Given the description of an element on the screen output the (x, y) to click on. 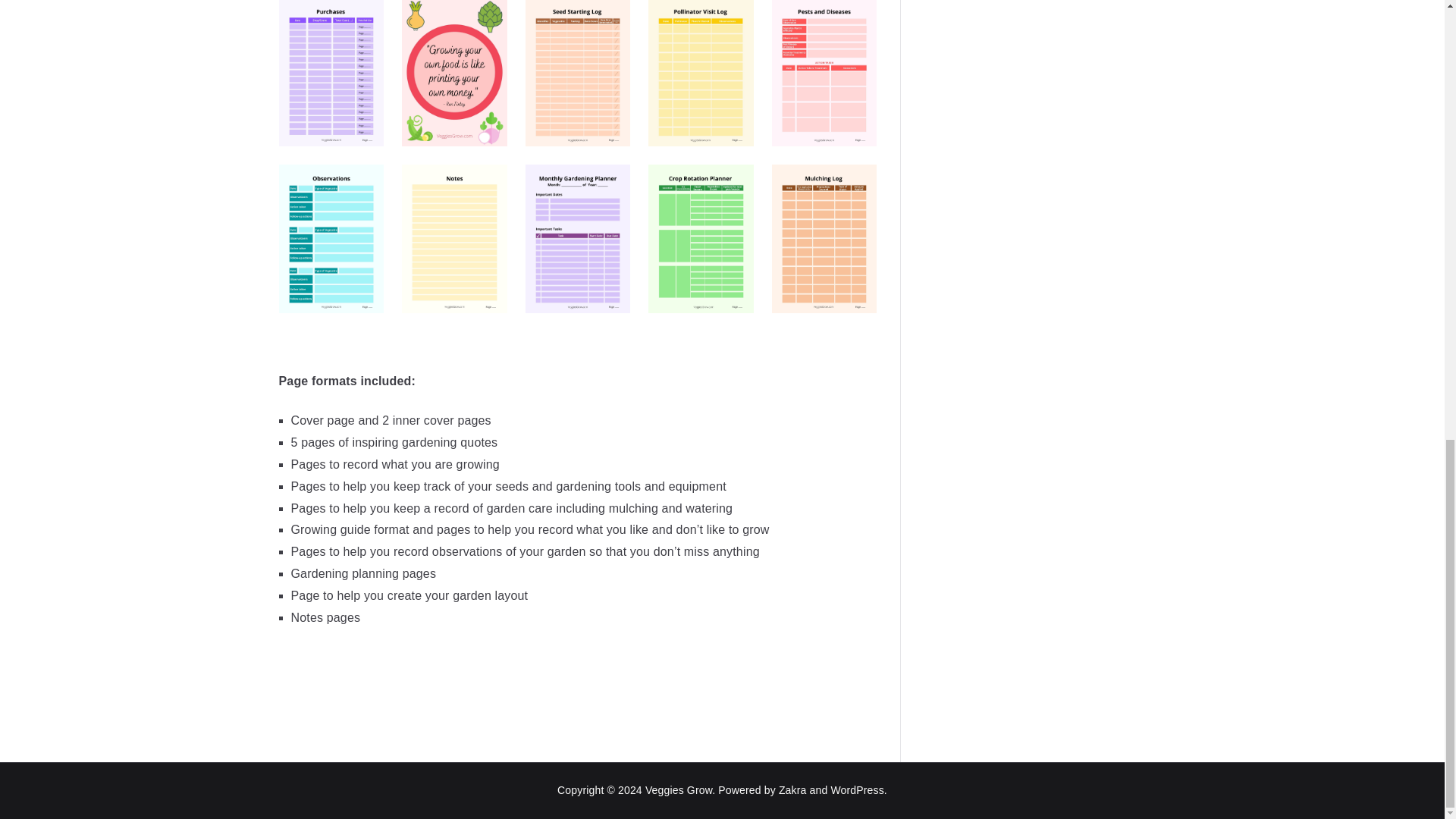
Veggies Grow (678, 789)
Zakra (792, 789)
Veggies Grow (678, 789)
WordPress (856, 789)
WordPress (856, 789)
Zakra (792, 789)
